Given the description of an element on the screen output the (x, y) to click on. 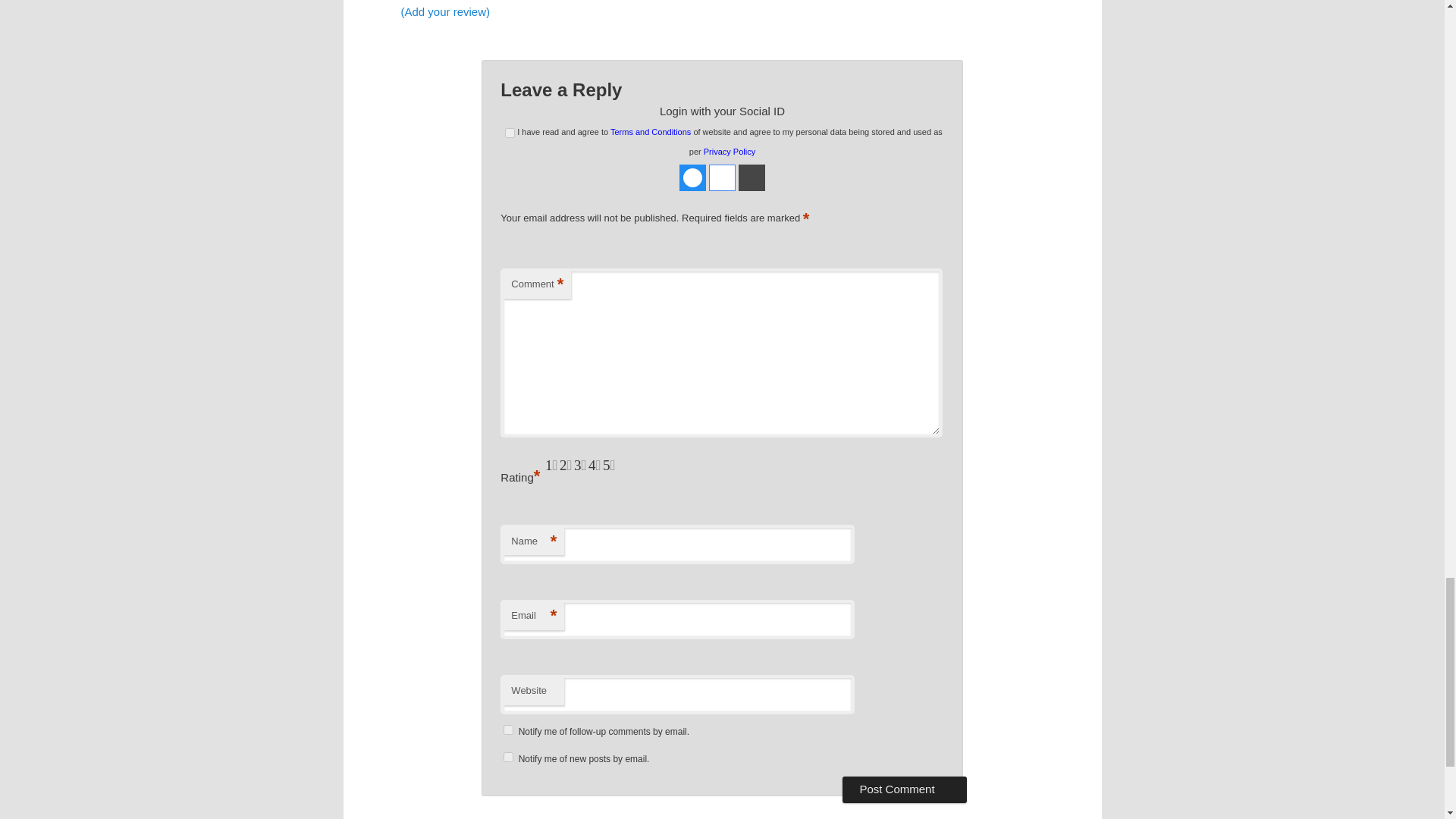
Login with Facebook (692, 177)
Login with Wordpress (751, 177)
subscribe (508, 729)
subscribe (508, 757)
Post Comment (904, 789)
1 (510, 132)
Login with Google (722, 177)
